Given the description of an element on the screen output the (x, y) to click on. 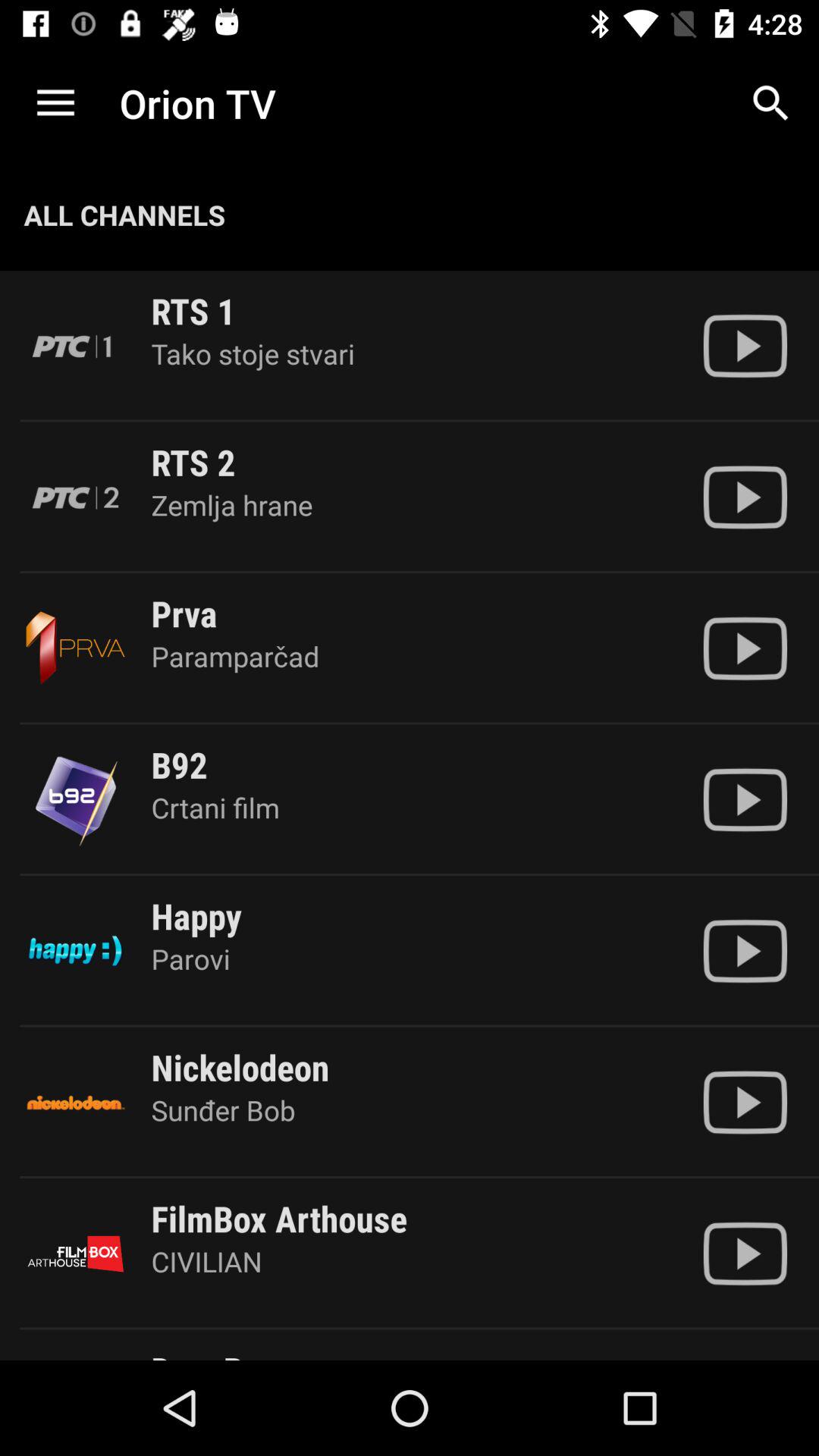
open app to the right of the orion tv item (771, 103)
